Given the description of an element on the screen output the (x, y) to click on. 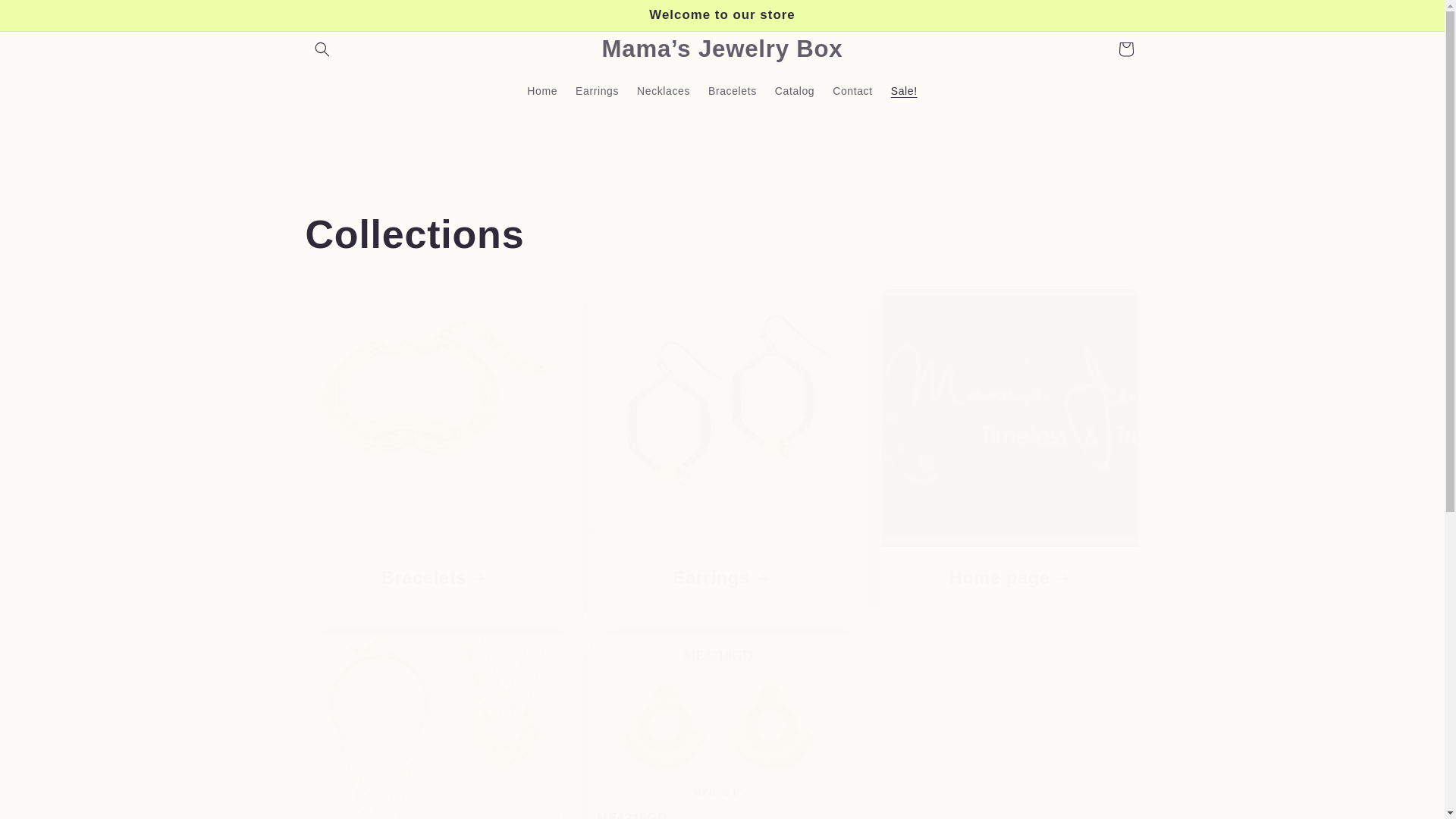
Home page (1010, 577)
Sale! (721, 729)
Collections (721, 233)
Earrings (596, 90)
Sale! (904, 90)
Catalog (794, 90)
Bracelets (731, 90)
Skip to content (45, 17)
Contact (852, 90)
Necklaces (662, 90)
